Given the description of an element on the screen output the (x, y) to click on. 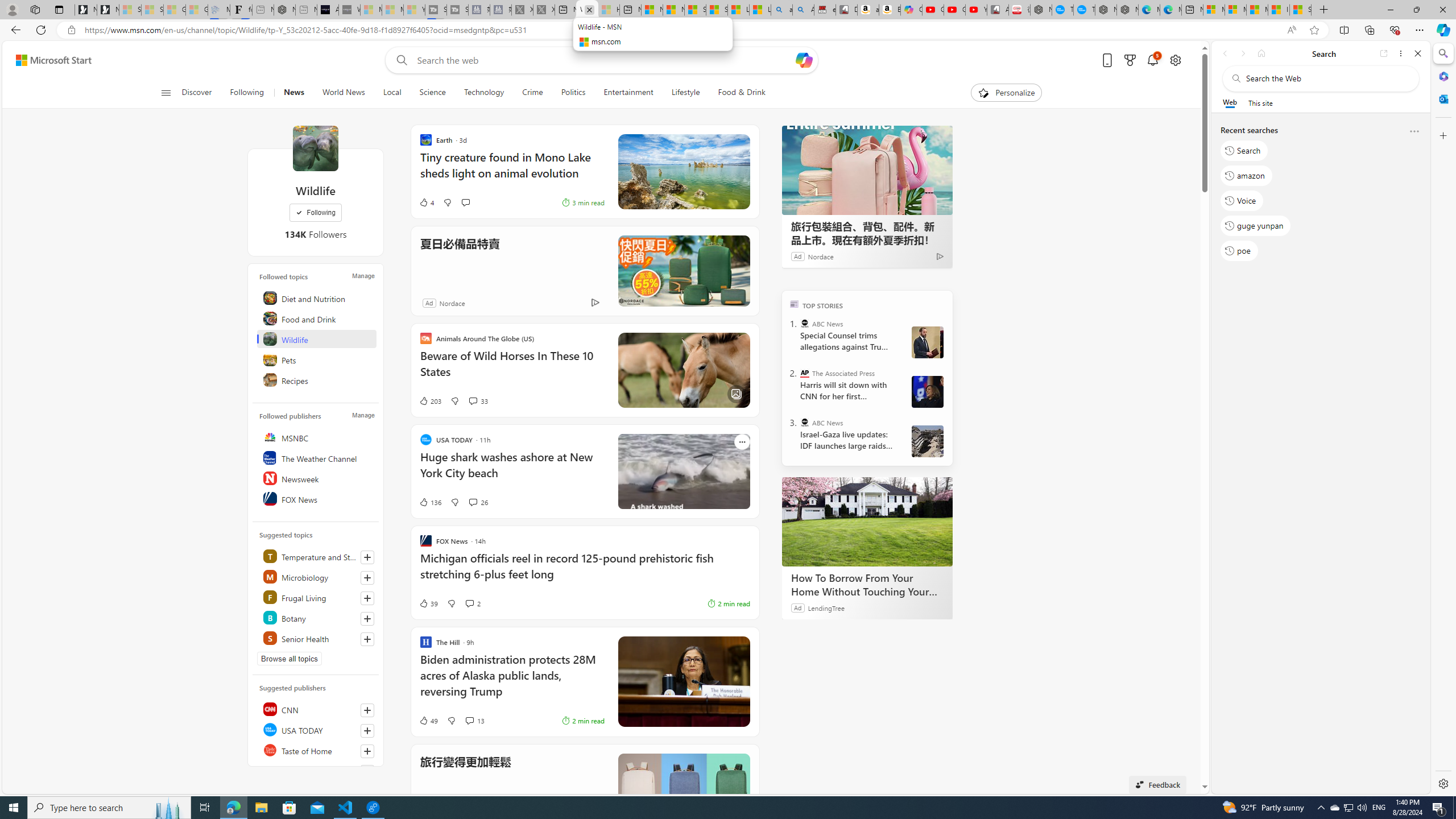
Crime (532, 92)
Technology (483, 92)
Skip to footer (46, 59)
Class: button-glyph (165, 92)
Open link in new tab (1383, 53)
39 Like (427, 603)
LendingTree (826, 607)
View comments 33 Comment (477, 400)
